Given the description of an element on the screen output the (x, y) to click on. 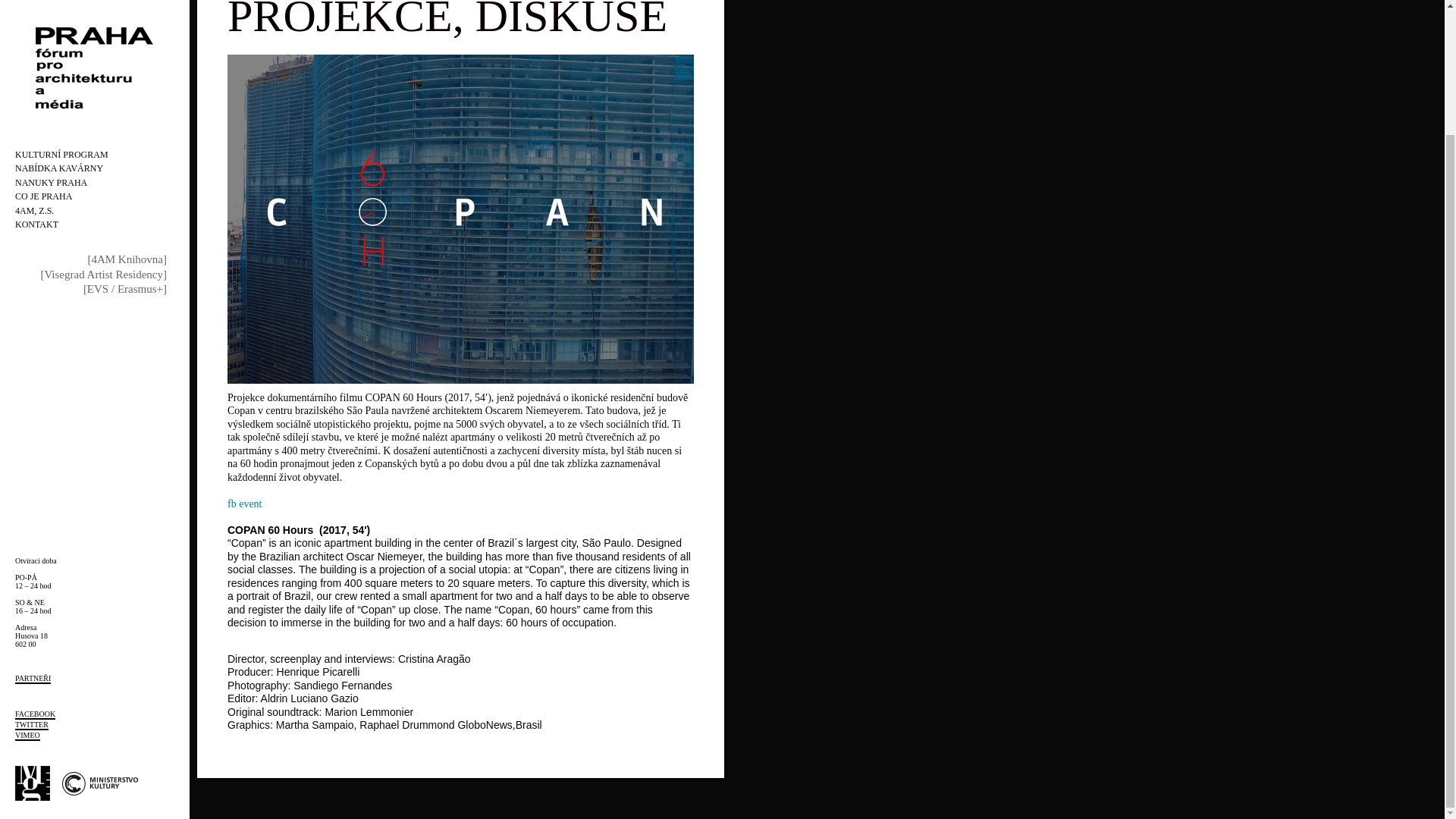
VIMEO (27, 584)
fb event (244, 503)
KONTAKT (36, 72)
TWITTER (31, 574)
NANUKY PRAHA (50, 31)
CO JE PRAHA (42, 45)
FACEBOOK (34, 563)
4AM, Z.S. (33, 59)
